Given the description of an element on the screen output the (x, y) to click on. 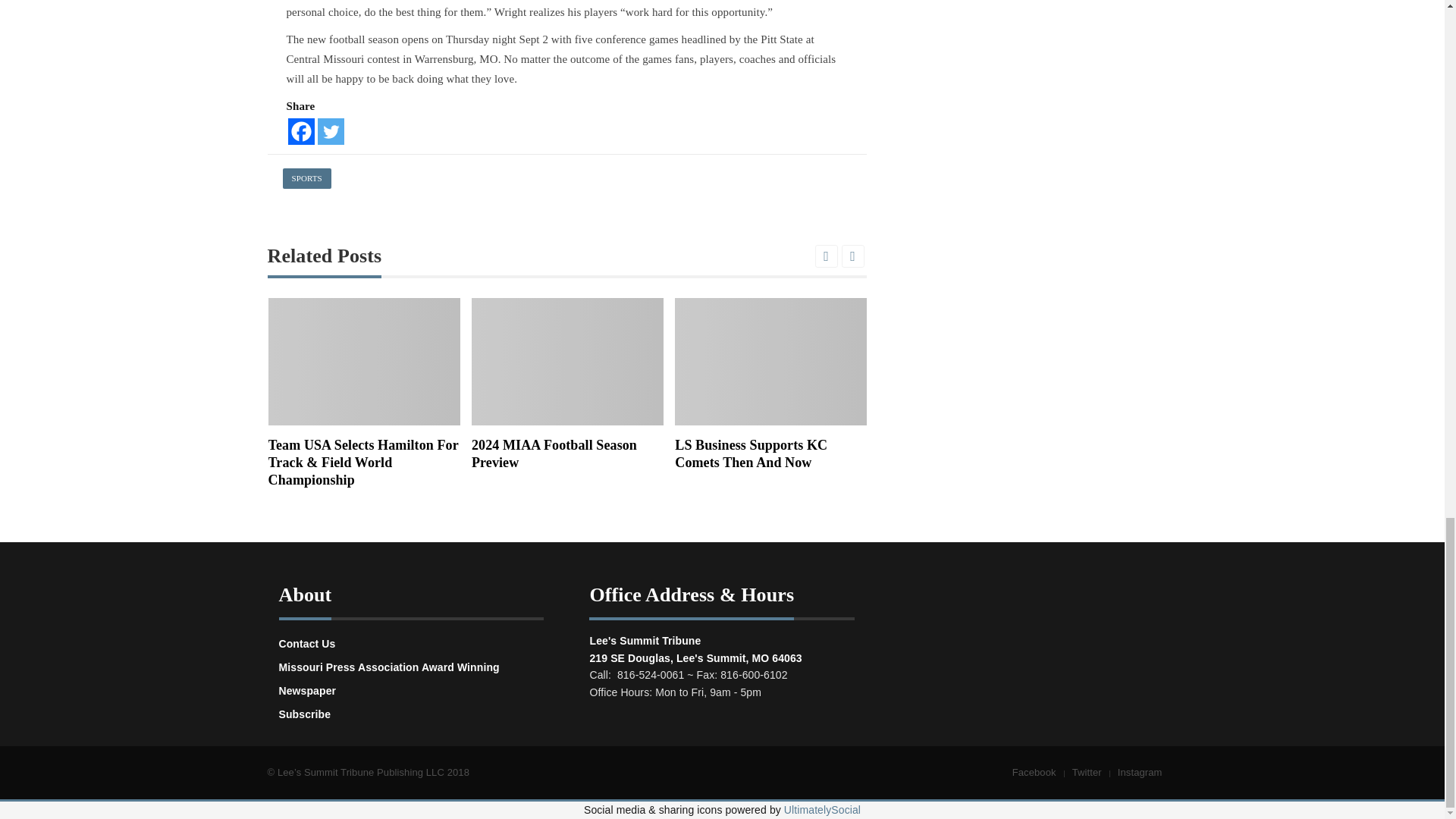
Facebook (301, 130)
SPORTS (306, 178)
2024 MIAA Football Season Preview (567, 361)
Twitter (330, 130)
LS Business Supports KC Comets Then And Now (770, 361)
